Given the description of an element on the screen output the (x, y) to click on. 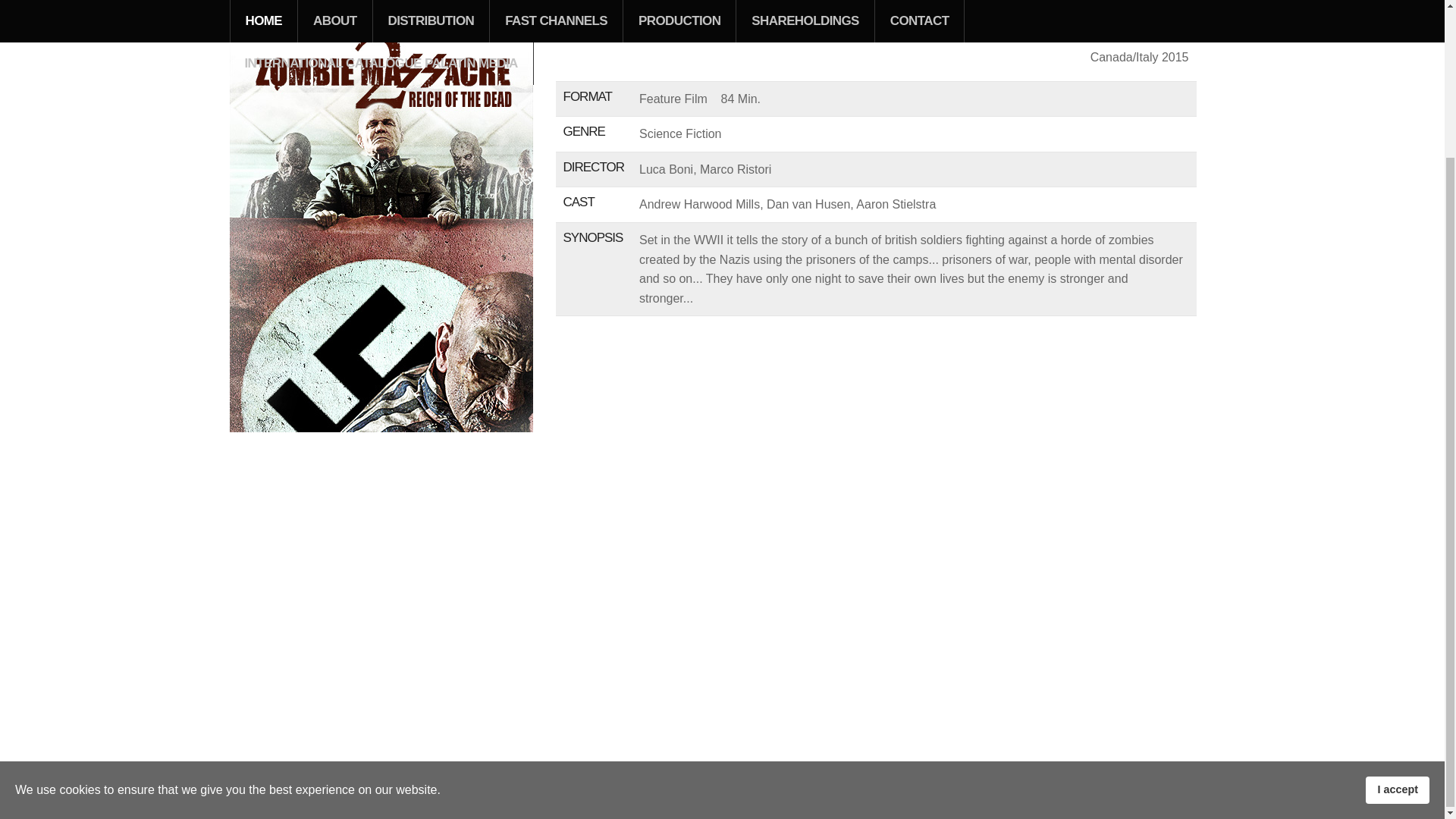
Home (242, 789)
Contact us (324, 789)
I accept (1397, 605)
Imprint (278, 789)
Data Protection (389, 789)
Follow us on Instagram (481, 789)
